Given the description of an element on the screen output the (x, y) to click on. 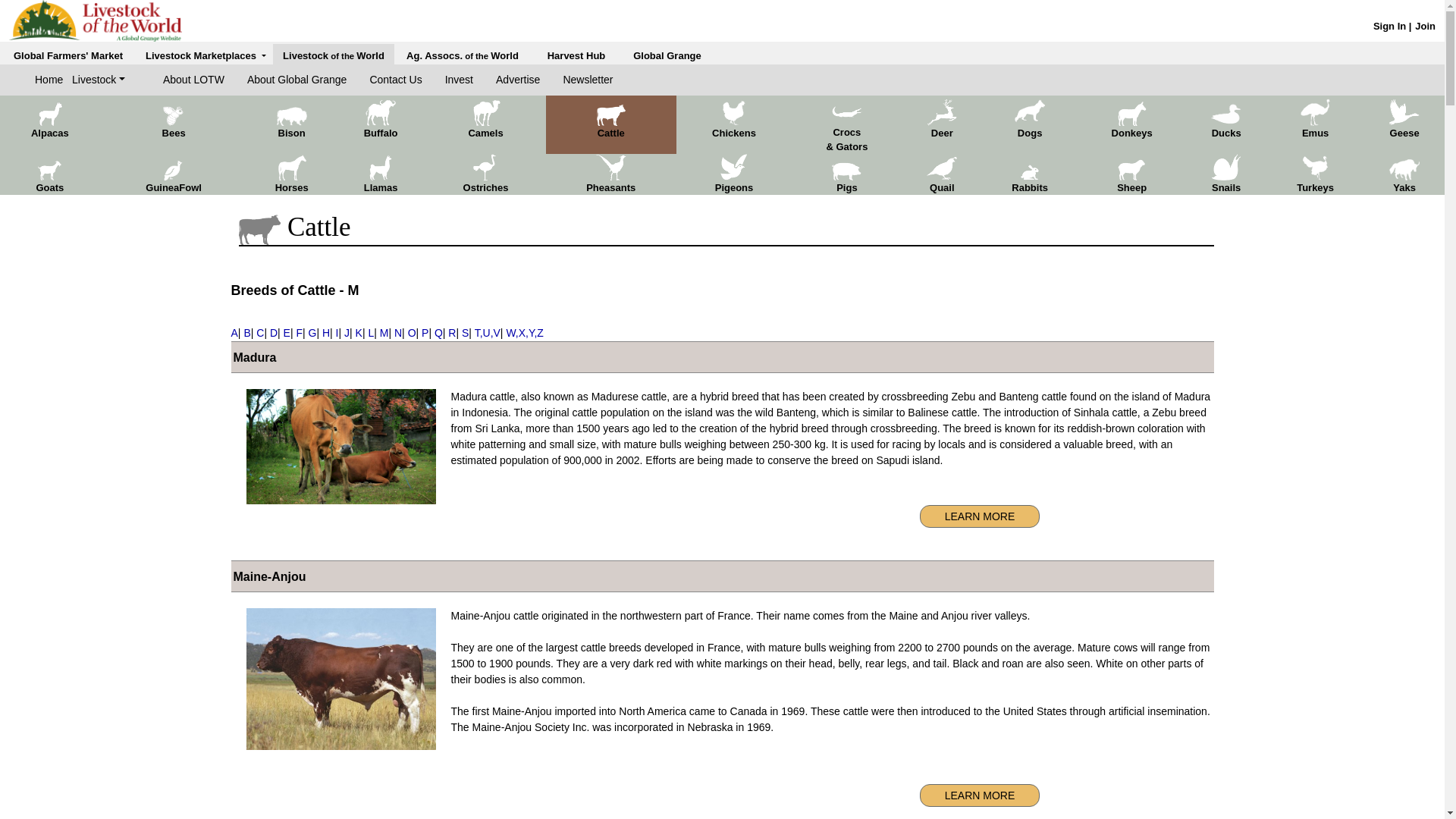
Join (1425, 25)
Global Grange (667, 55)
Livestock of the World (333, 55)
Ag. Assocs. of the World (462, 55)
LEARN MORE (980, 794)
Livestock (98, 79)
Global Farmers' Market (67, 55)
Livestock Marketplaces (205, 55)
Home    (52, 79)
Harvest Hub (576, 55)
LEARN MORE (980, 516)
